Given the description of an element on the screen output the (x, y) to click on. 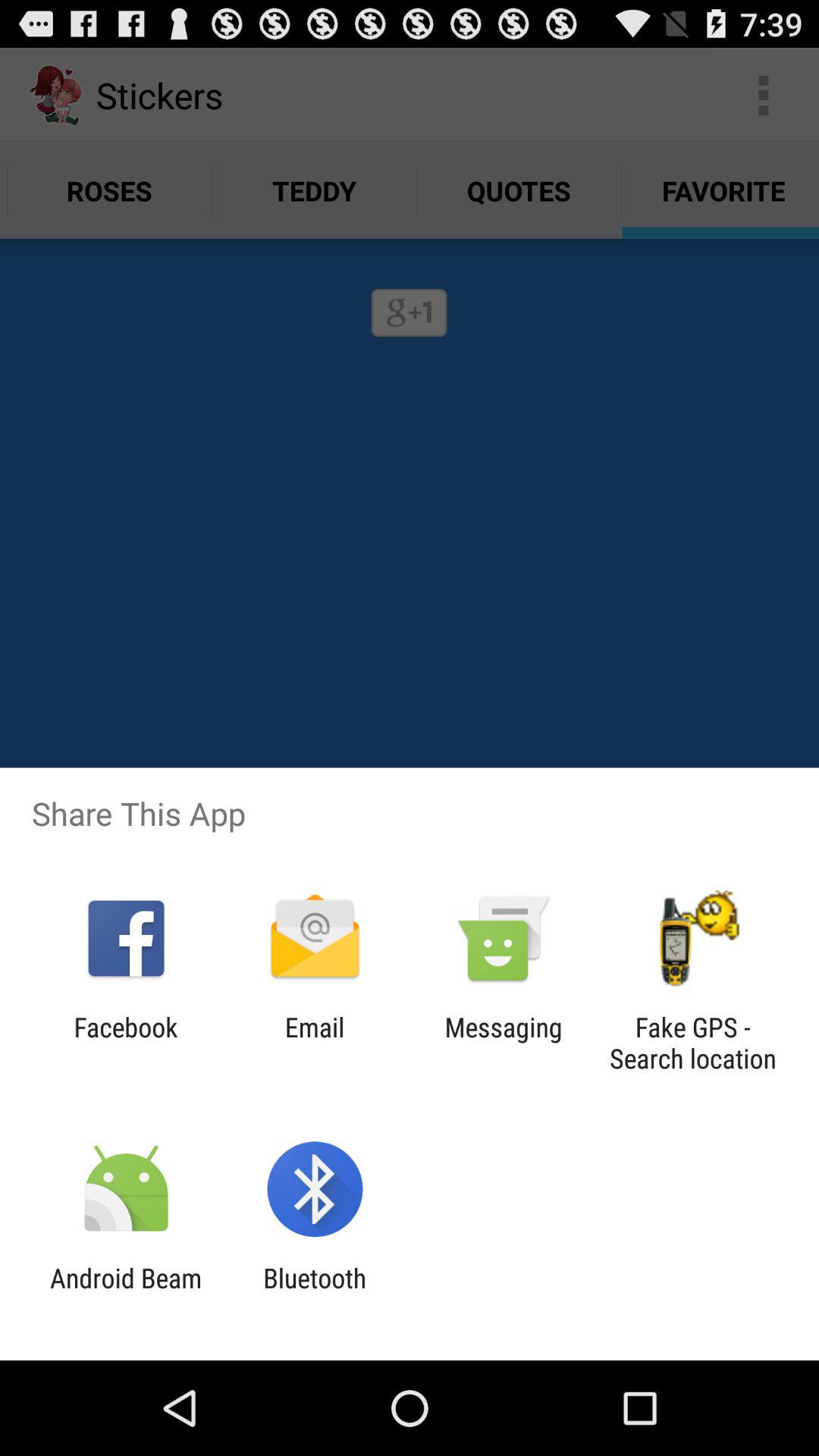
launch the fake gps search at the bottom right corner (692, 1042)
